Given the description of an element on the screen output the (x, y) to click on. 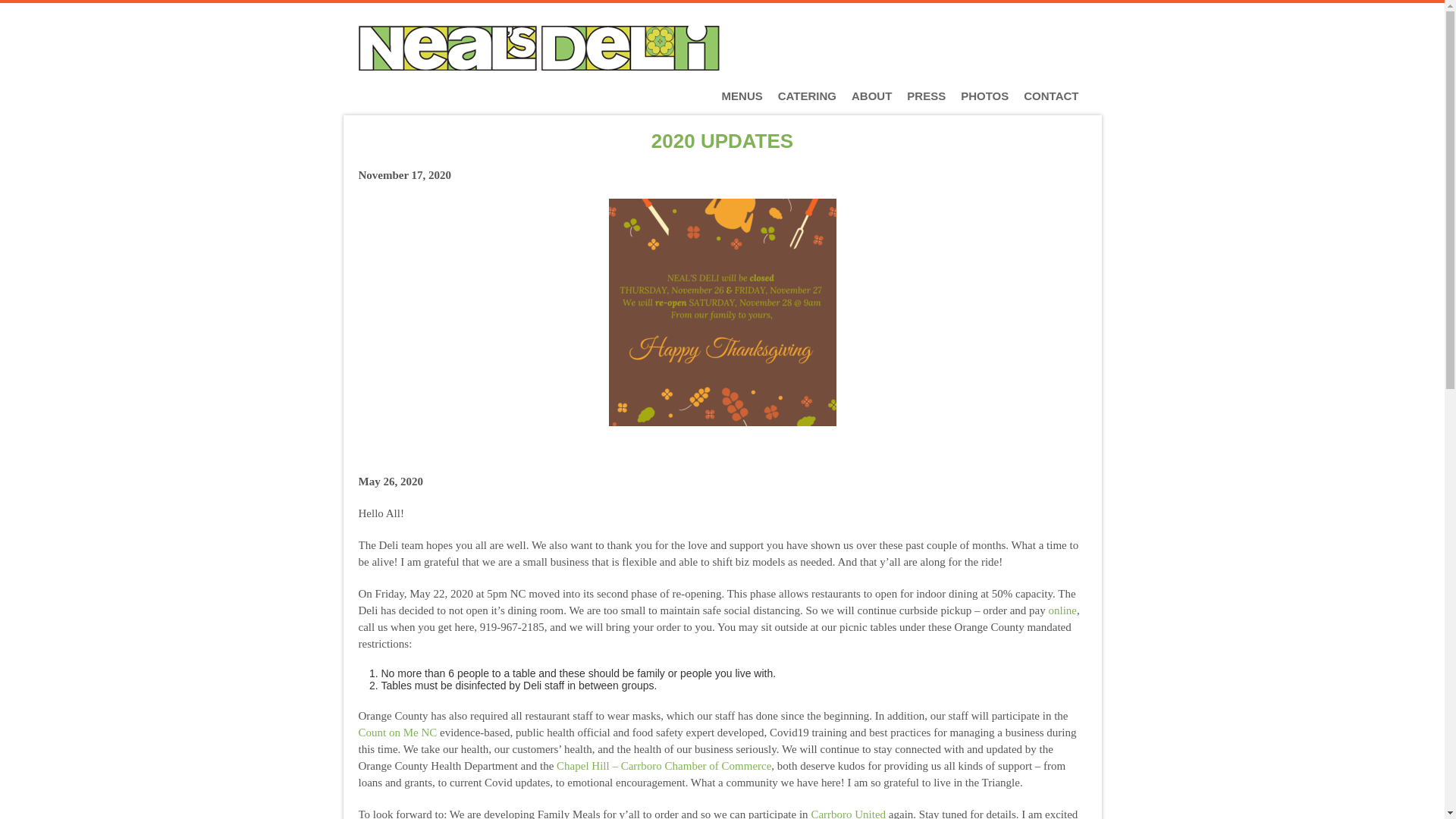
PHOTOS (984, 96)
MENUS (742, 96)
PRESS (926, 96)
CONTACT (1051, 96)
Count on Me NC (397, 733)
Carrboro United (847, 813)
online (1062, 611)
ABOUT (871, 96)
CATERING (807, 96)
